Given the description of an element on the screen output the (x, y) to click on. 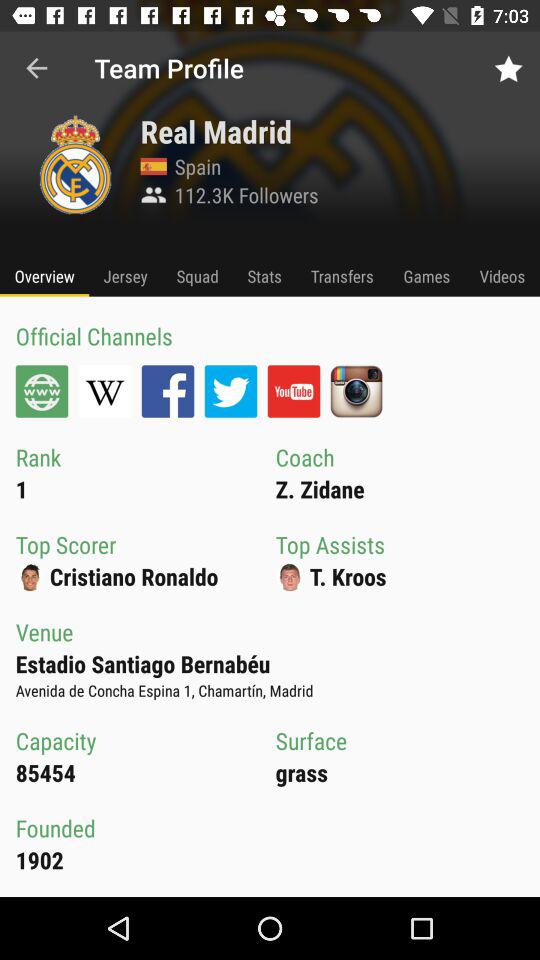
go to tou type (293, 391)
